Given the description of an element on the screen output the (x, y) to click on. 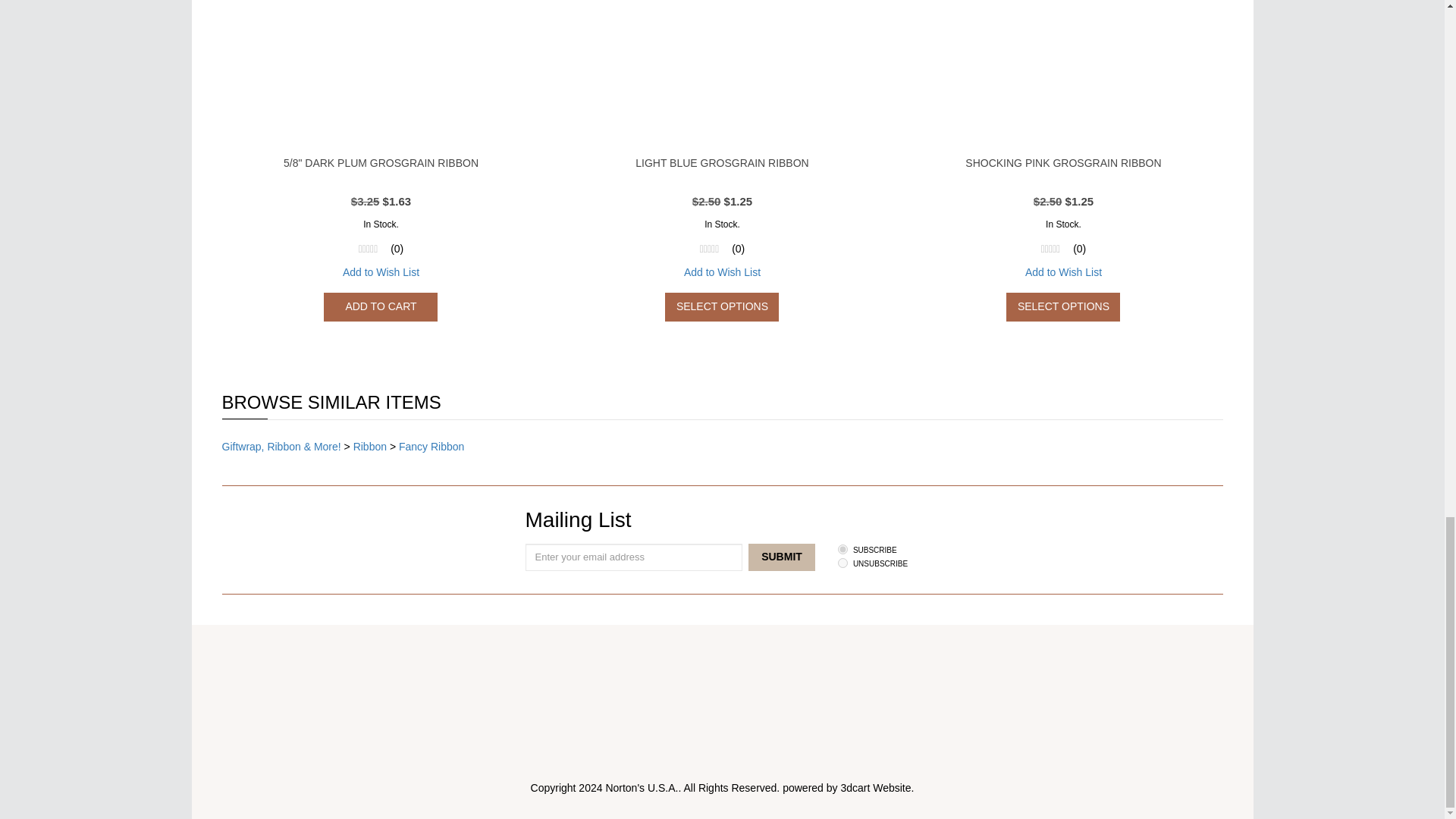
1 (842, 549)
0 (842, 562)
